Given the description of an element on the screen output the (x, y) to click on. 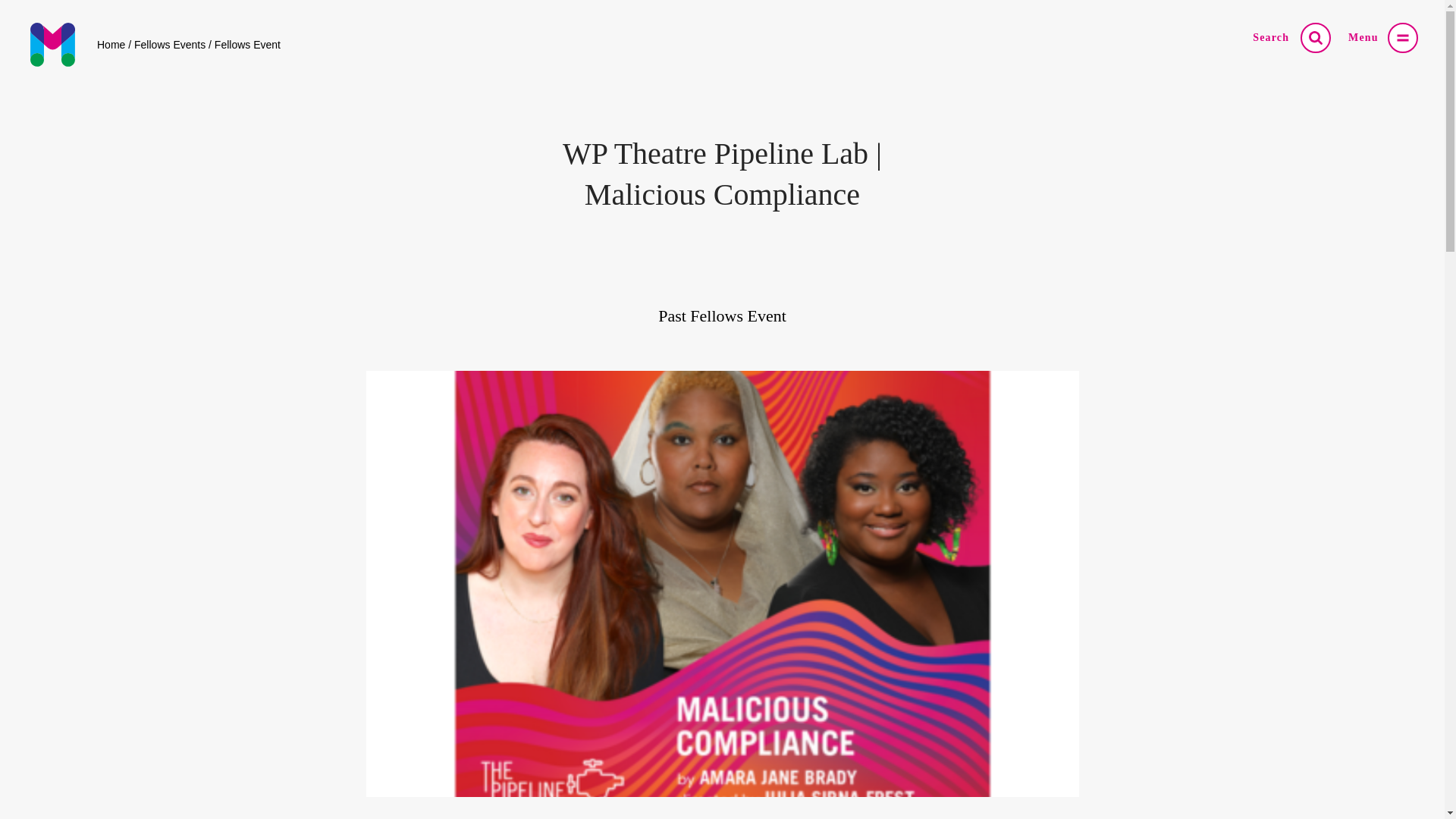
Fellows Events (169, 44)
Search (1315, 37)
Website Search (1315, 37)
MacDowell Homepage (52, 44)
Home (111, 44)
Menu (1402, 37)
Menu Toggle (1402, 37)
